Given the description of an element on the screen output the (x, y) to click on. 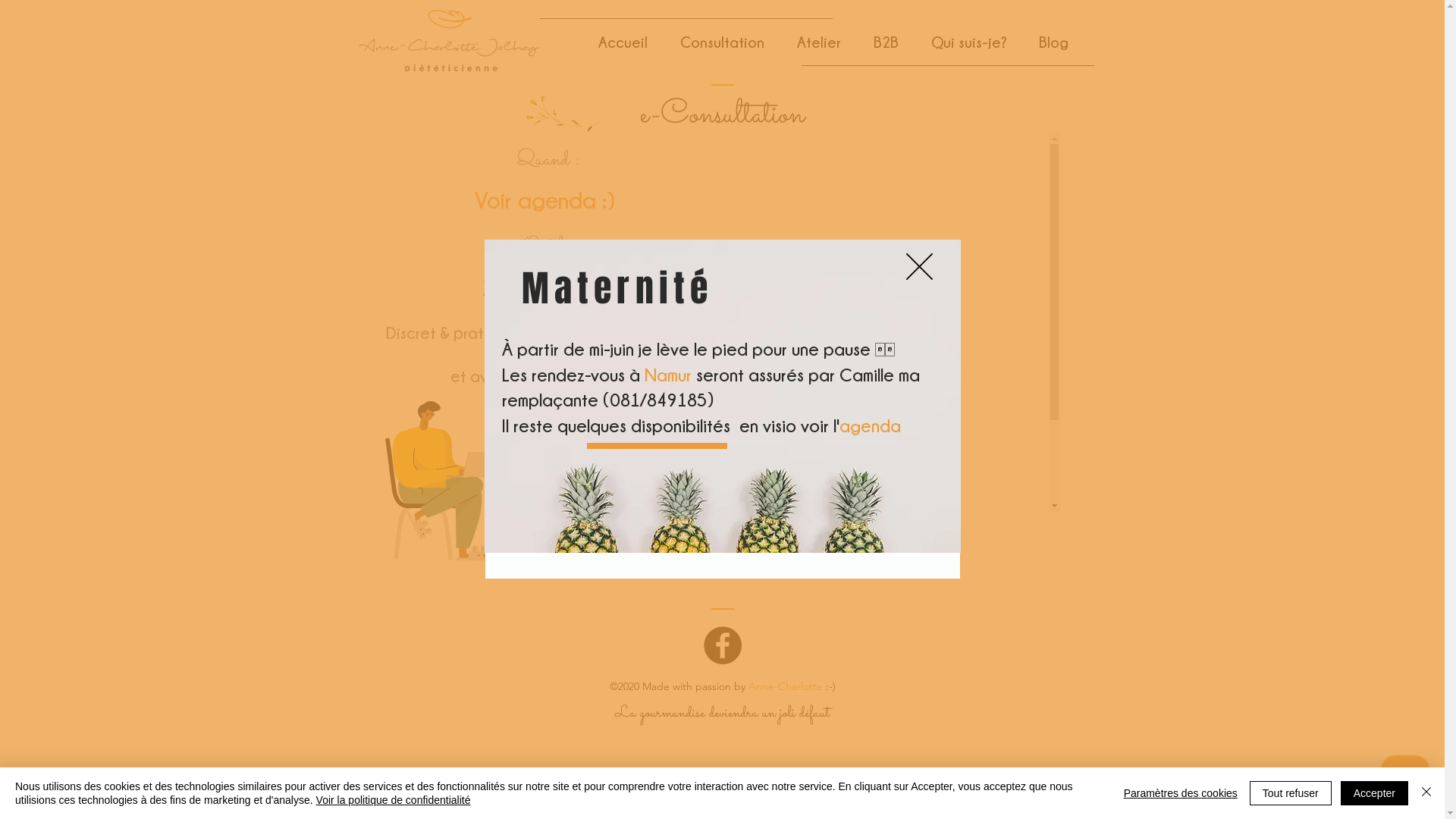
Qui suis-je? Element type: text (959, 42)
Tout refuser Element type: text (1290, 793)
B2B Element type: text (876, 42)
Embedded Content Element type: hover (897, 321)
Atelier Element type: text (809, 42)
Blog Element type: text (1045, 42)
Consultation Element type: text (713, 42)
Accepter Element type: text (1374, 793)
Accueil Element type: text (614, 42)
Retour au site Element type: hover (918, 266)
Anne-Charlotte Element type: text (784, 686)
